Given the description of an element on the screen output the (x, y) to click on. 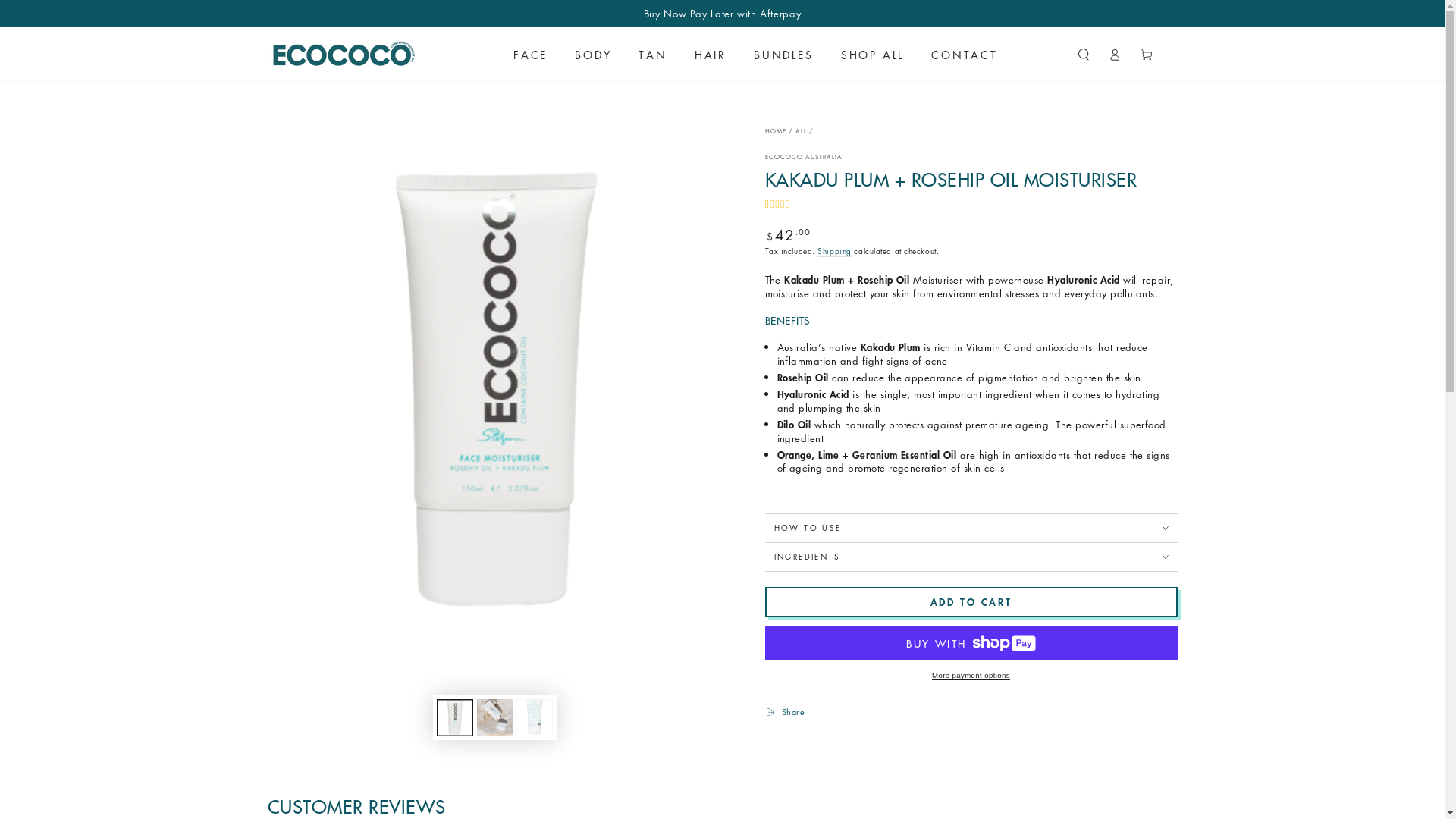
FACE Element type: text (530, 54)
HOME Element type: text (774, 130)
BUNDLES Element type: text (783, 54)
CONTACT Element type: text (964, 54)
HAIR Element type: text (710, 54)
ADD TO CART Element type: text (970, 601)
ECOCOCO AUSTRALIA Element type: text (803, 156)
Shipping Element type: text (833, 250)
SKIP TO PRODUCT INFORMATION Element type: text (339, 122)
More payment options Element type: text (970, 675)
SHOP ALL Element type: text (872, 54)
BODY Element type: text (592, 54)
Log in Element type: text (1114, 53)
TAN Element type: text (652, 54)
ALL Element type: text (800, 130)
